Given the description of an element on the screen output the (x, y) to click on. 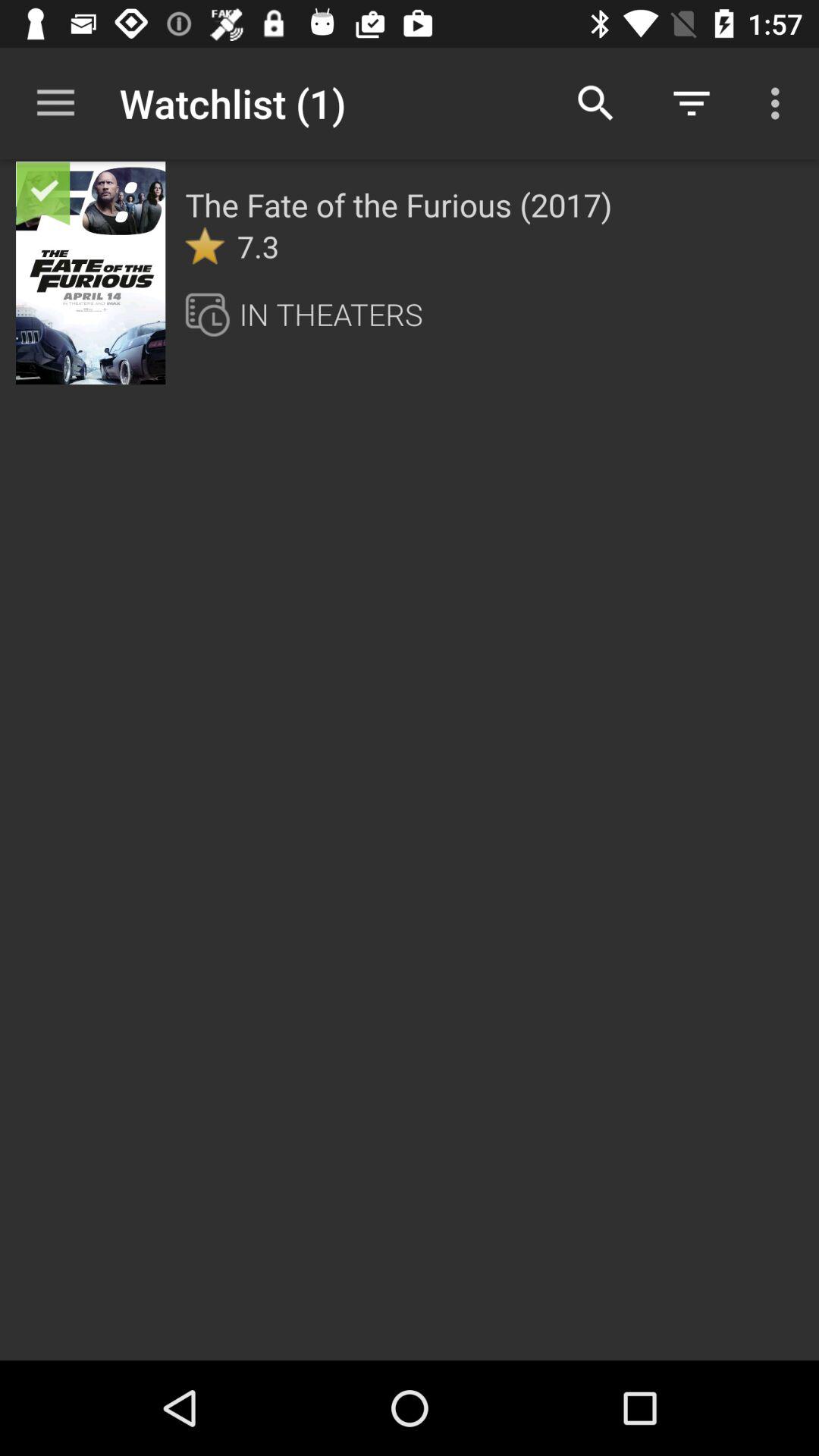
open icon next to the 7.3 icon (205, 246)
